Given the description of an element on the screen output the (x, y) to click on. 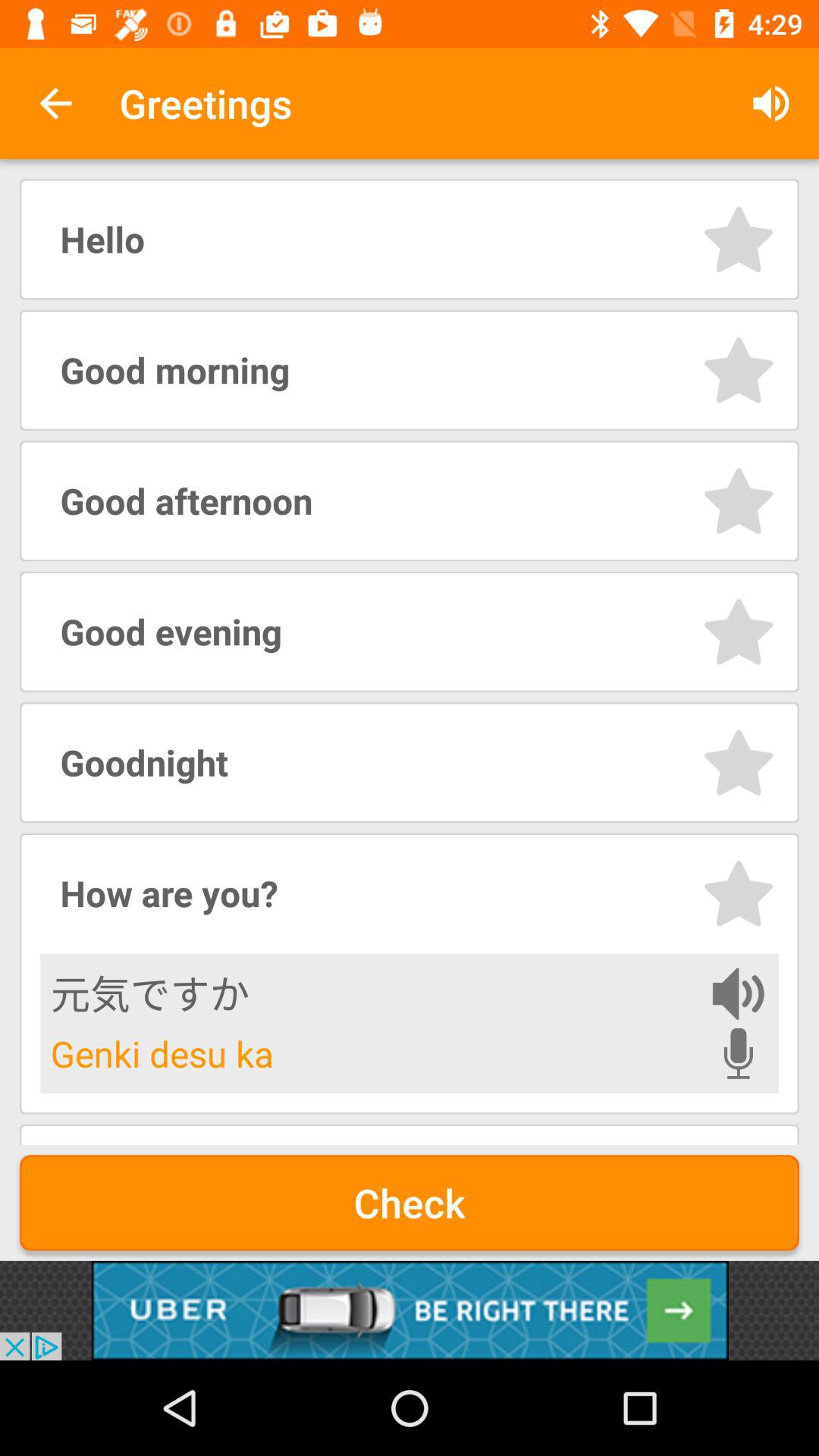
voice record (738, 1053)
